Given the description of an element on the screen output the (x, y) to click on. 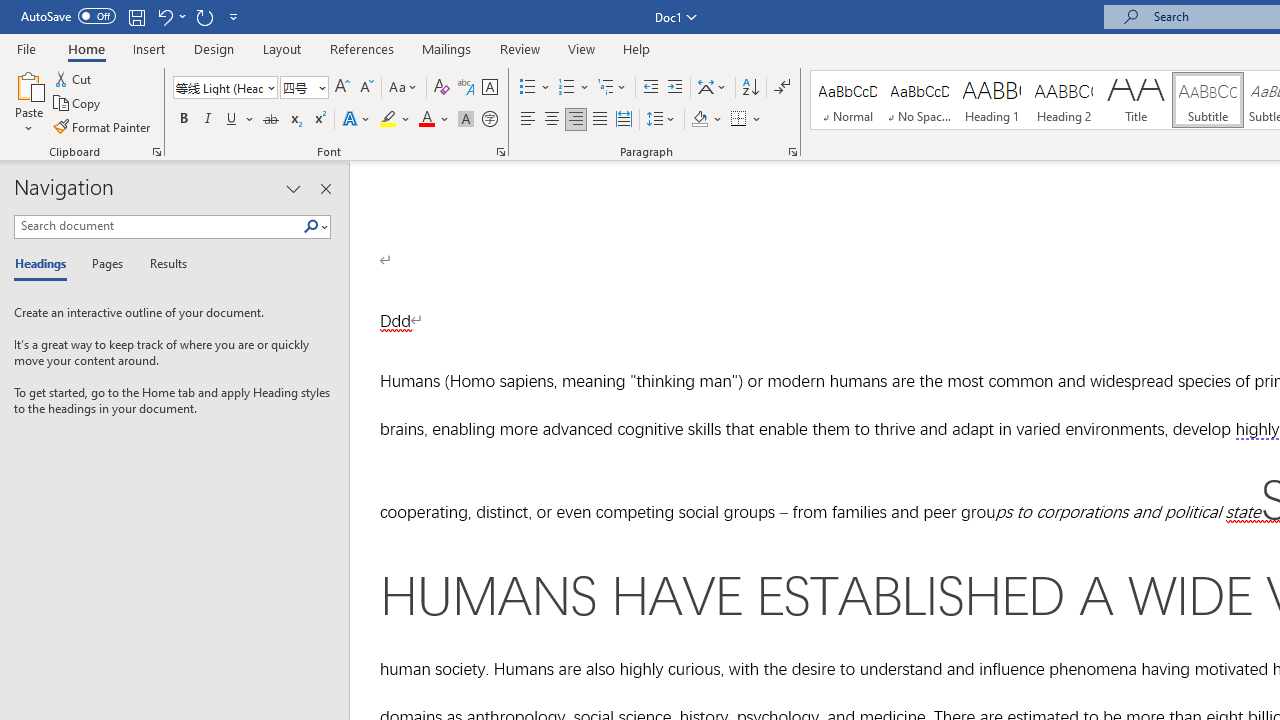
Cut (73, 78)
Font Color Red (426, 119)
Justify (599, 119)
Align Left (527, 119)
Shading RGB(0, 0, 0) (699, 119)
Strikethrough (270, 119)
Font Color (434, 119)
Line and Paragraph Spacing (661, 119)
Heading 2 (1063, 100)
